Given the description of an element on the screen output the (x, y) to click on. 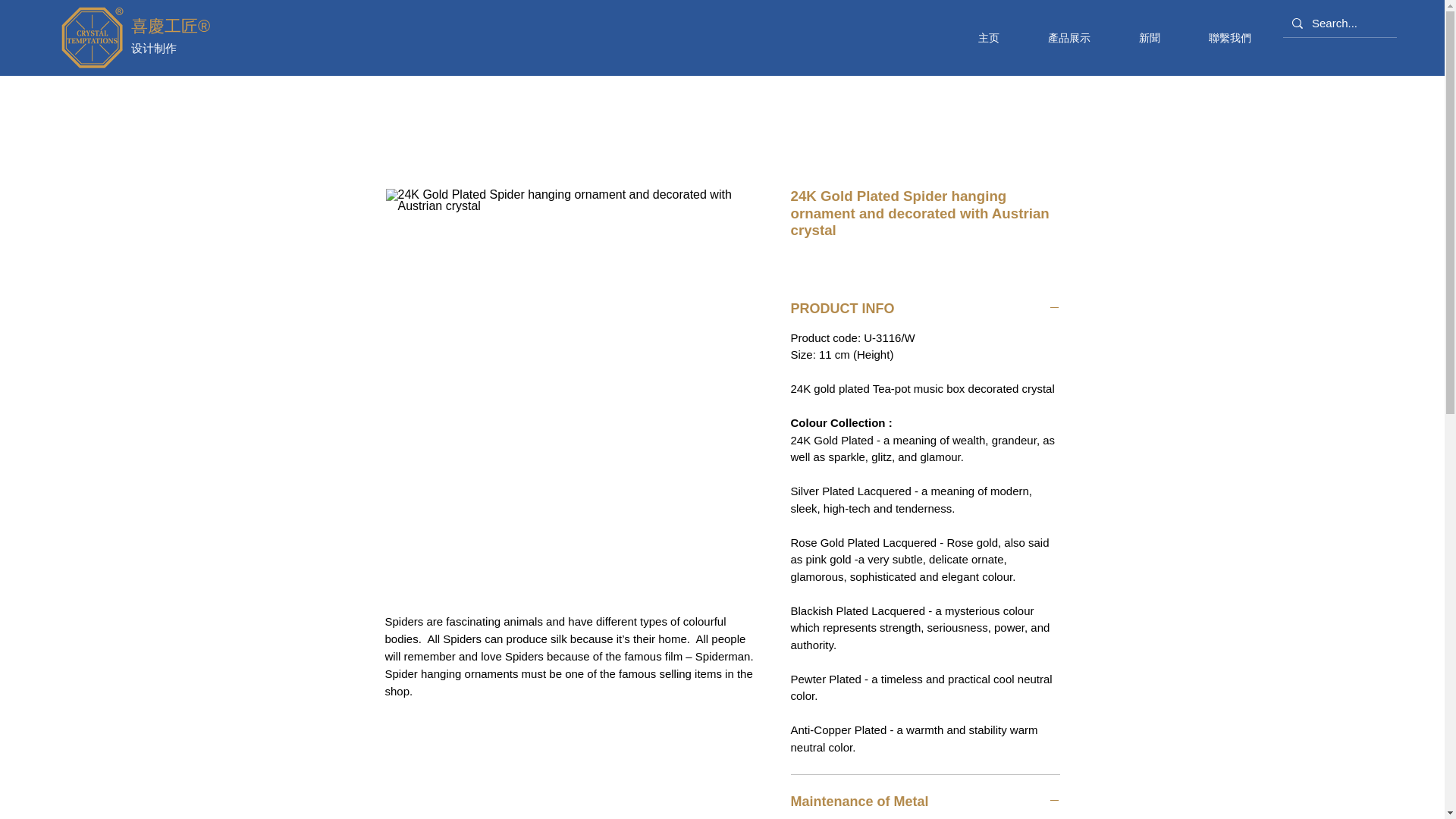
Maintenance of Metal (924, 801)
PRODUCT INFO (924, 308)
